Given the description of an element on the screen output the (x, y) to click on. 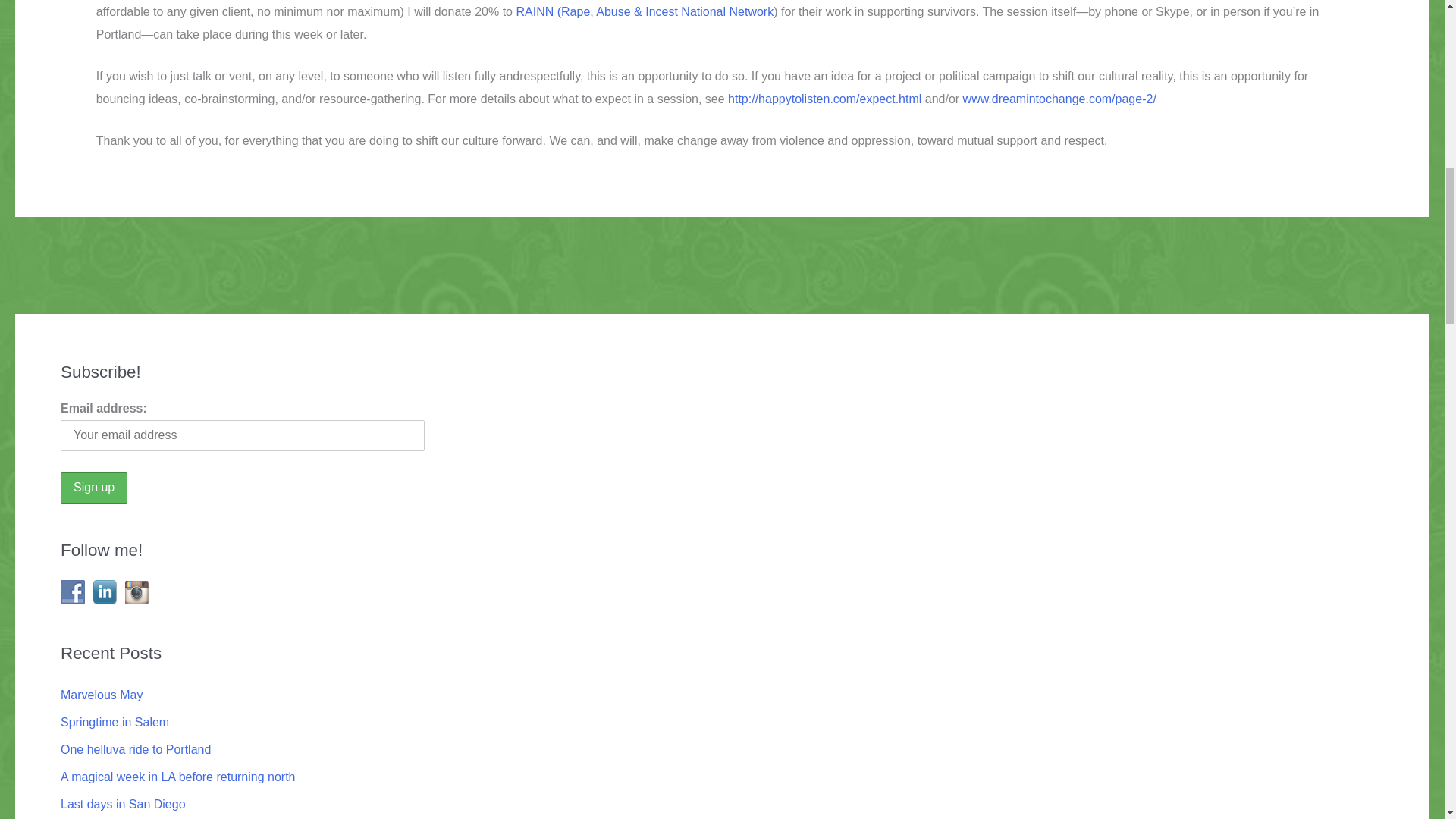
A magical week in LA before returning north (178, 776)
Sign up (94, 487)
Springtime in Salem (114, 721)
Follow Us on Facebook (72, 591)
Marvelous May (101, 694)
Follow Us on Instagram (135, 591)
One helluva ride to Portland (136, 748)
Last days in San Diego (123, 803)
Follow Us on LinkedIn (104, 591)
Sign up (94, 487)
